Given the description of an element on the screen output the (x, y) to click on. 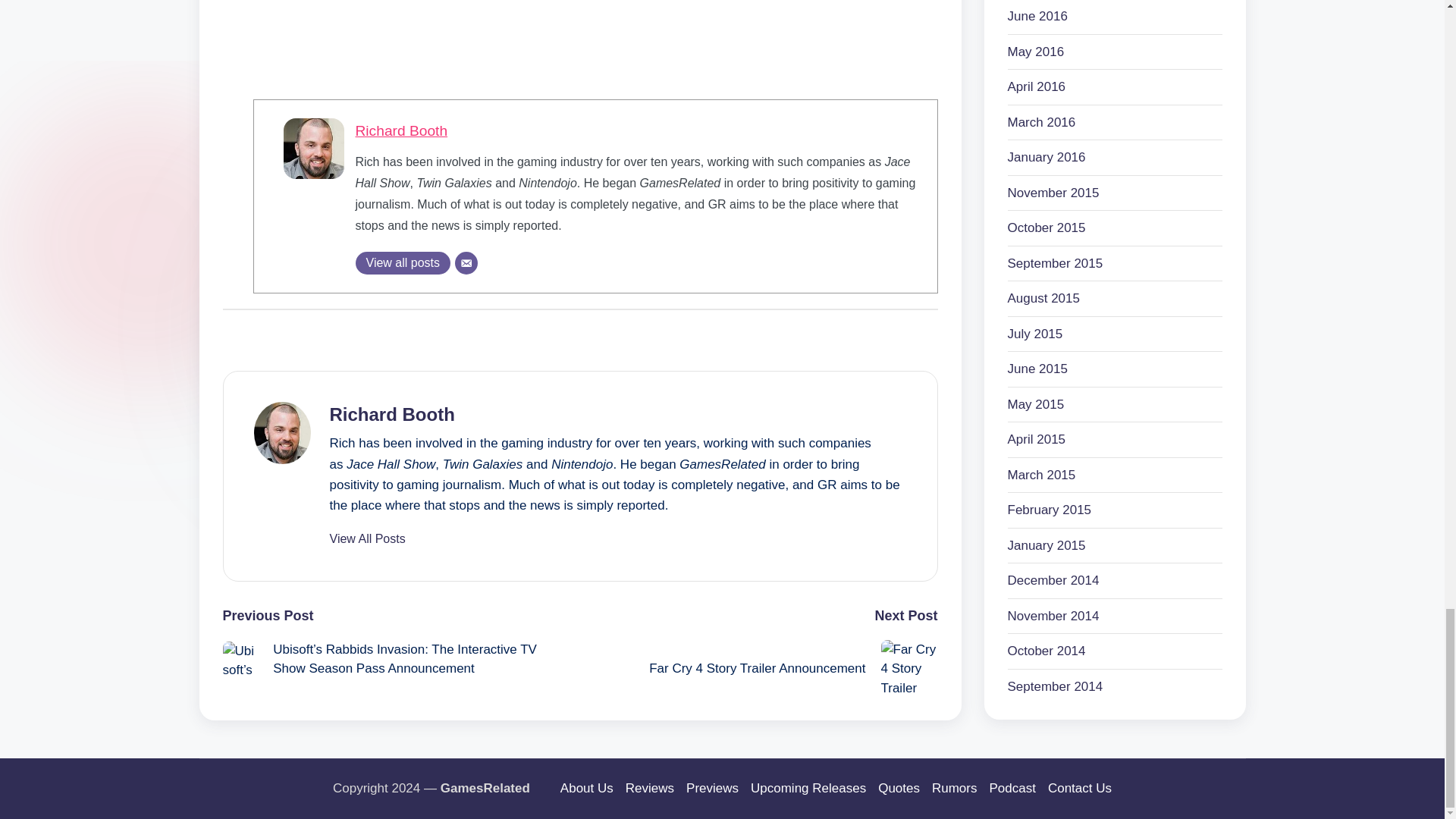
View All Posts (366, 539)
Richard Booth (400, 130)
Richard Booth (400, 130)
Richard Booth (391, 414)
View all posts (402, 262)
View all posts (402, 262)
Far Cry 4 Story Trailer Announcement (758, 667)
